Given the description of an element on the screen output the (x, y) to click on. 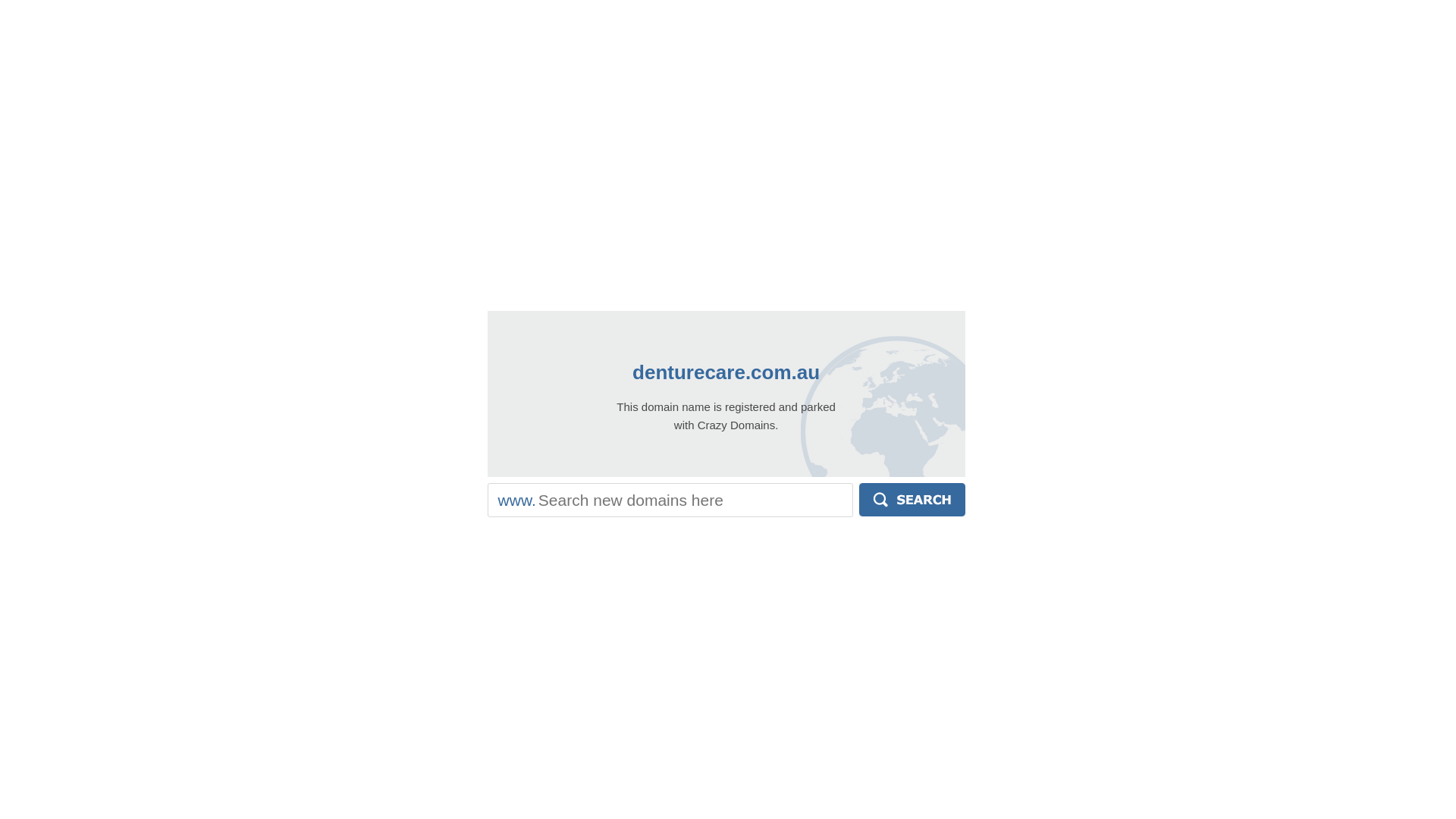
Search Element type: text (912, 499)
